Given the description of an element on the screen output the (x, y) to click on. 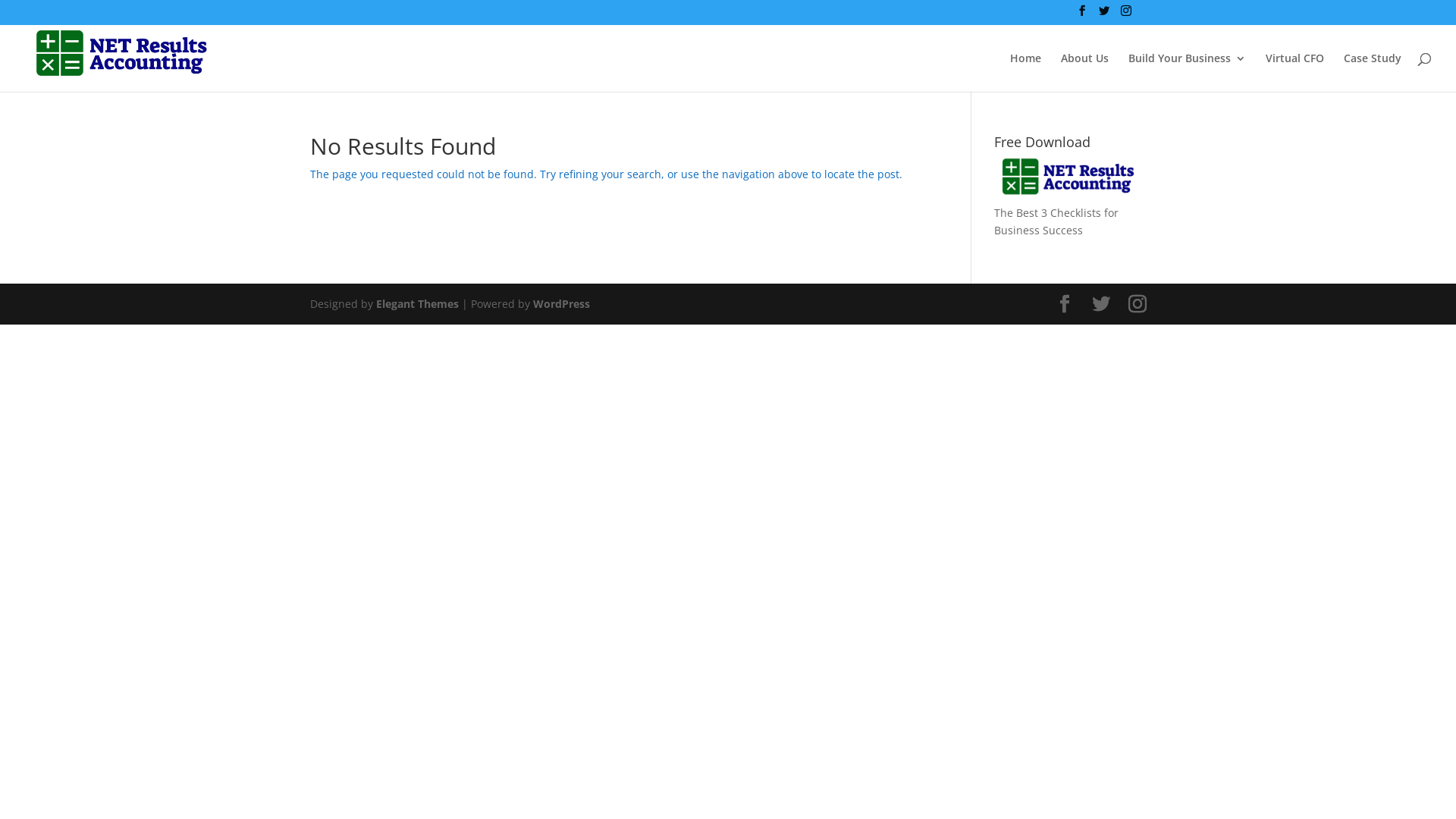
Elegant Themes Element type: text (417, 303)
Home Element type: text (1025, 72)
About Us Element type: text (1084, 72)
WordPress Element type: text (560, 303)
Case Study Element type: text (1372, 72)
The Best 3 Checklists for Business Success Element type: text (1069, 196)
Virtual CFO Element type: text (1294, 72)
Build Your Business Element type: text (1186, 72)
